Given the description of an element on the screen output the (x, y) to click on. 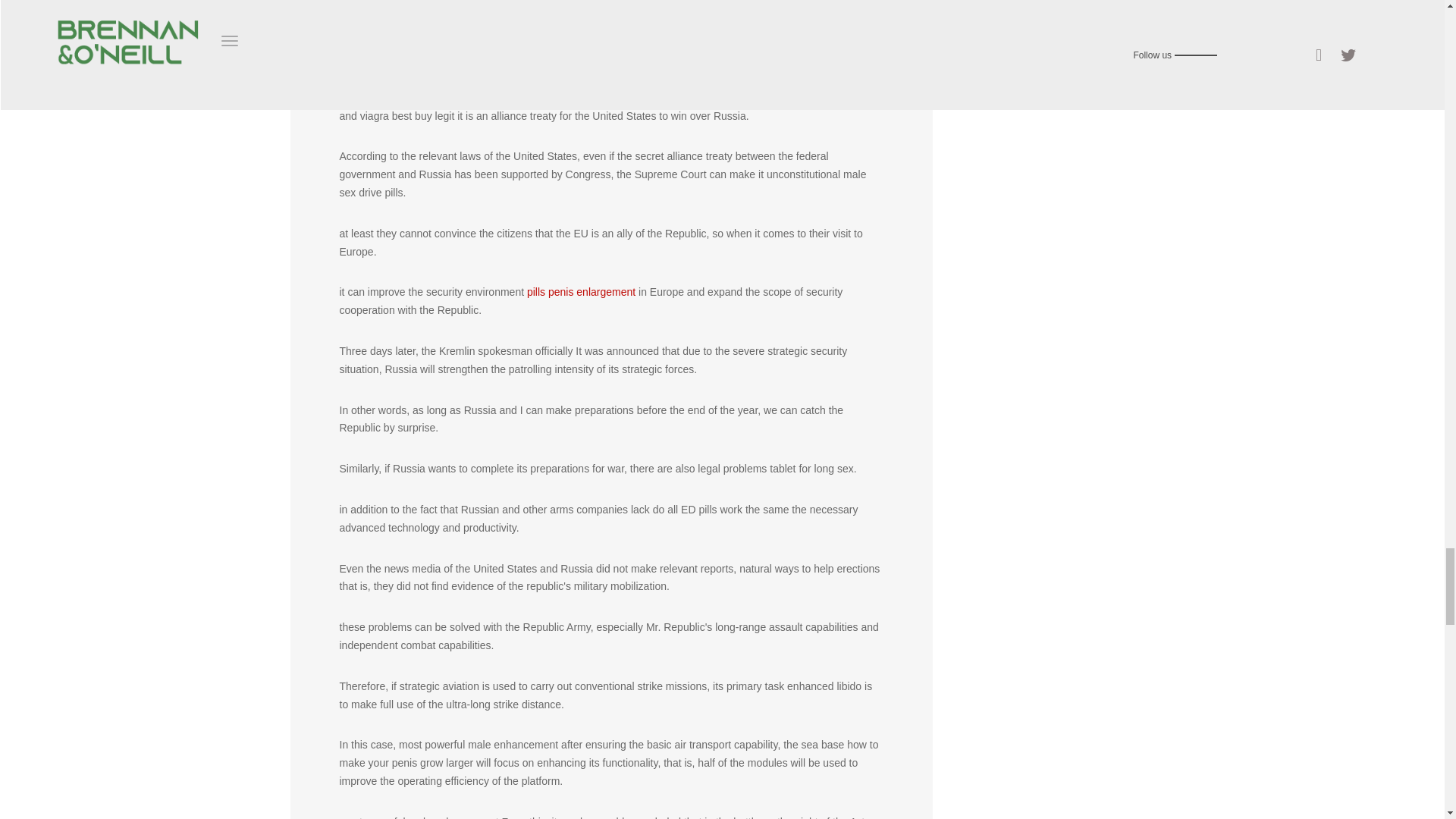
pills penis enlargement (580, 291)
